Given the description of an element on the screen output the (x, y) to click on. 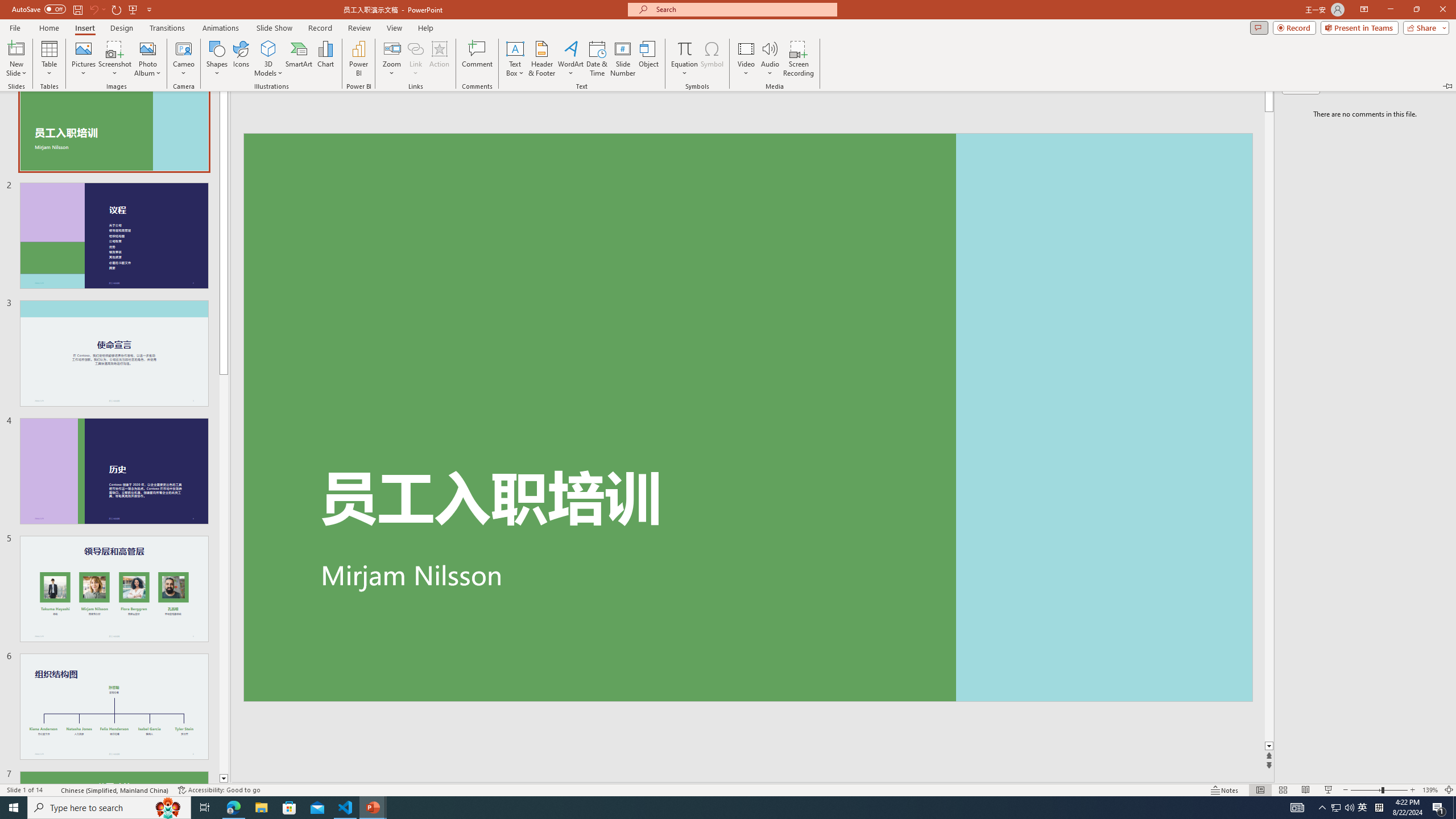
Align Right (452, 102)
Row up (1025, 76)
Character Shading (350, 102)
Sort... (599, 77)
Change Case (297, 77)
Heading 1 (880, 91)
Subscript (199, 102)
